Given the description of an element on the screen output the (x, y) to click on. 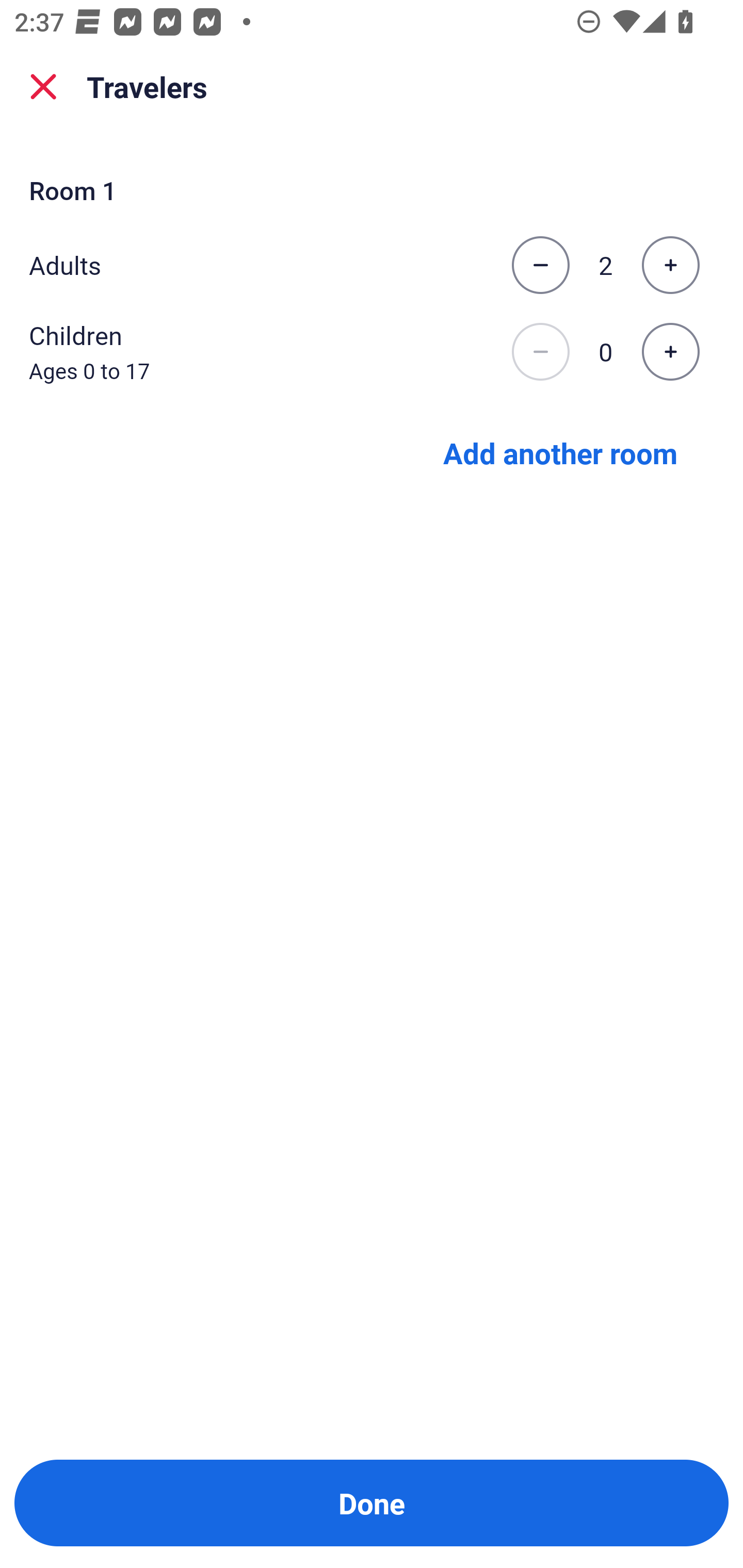
close (43, 86)
Decrease the number of adults (540, 264)
Increase the number of adults (670, 264)
Decrease the number of children (540, 351)
Increase the number of children (670, 351)
Add another room (560, 452)
Done (371, 1502)
